Given the description of an element on the screen output the (x, y) to click on. 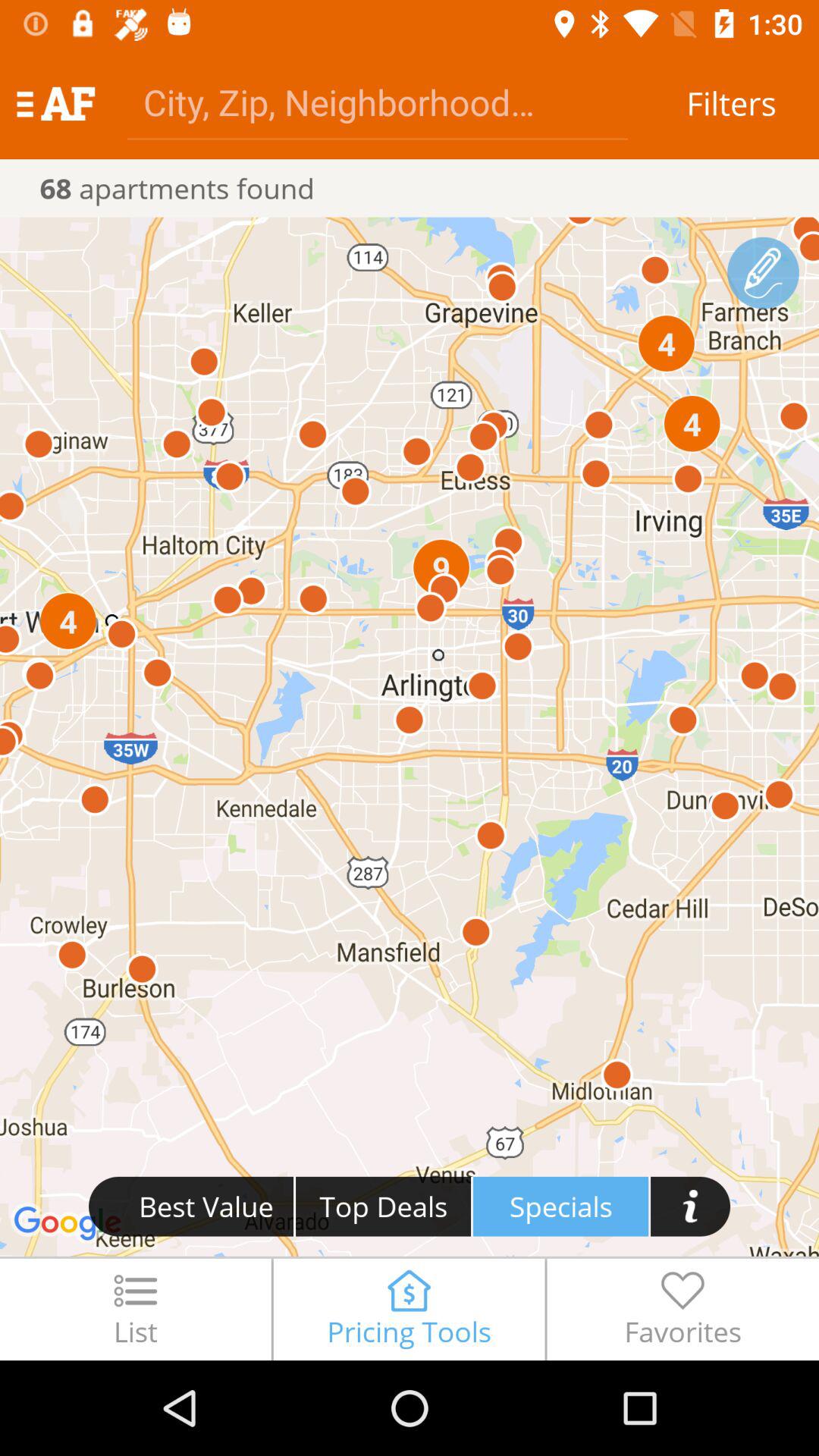
select the item to the right of the pricing tools (683, 1309)
